Given the description of an element on the screen output the (x, y) to click on. 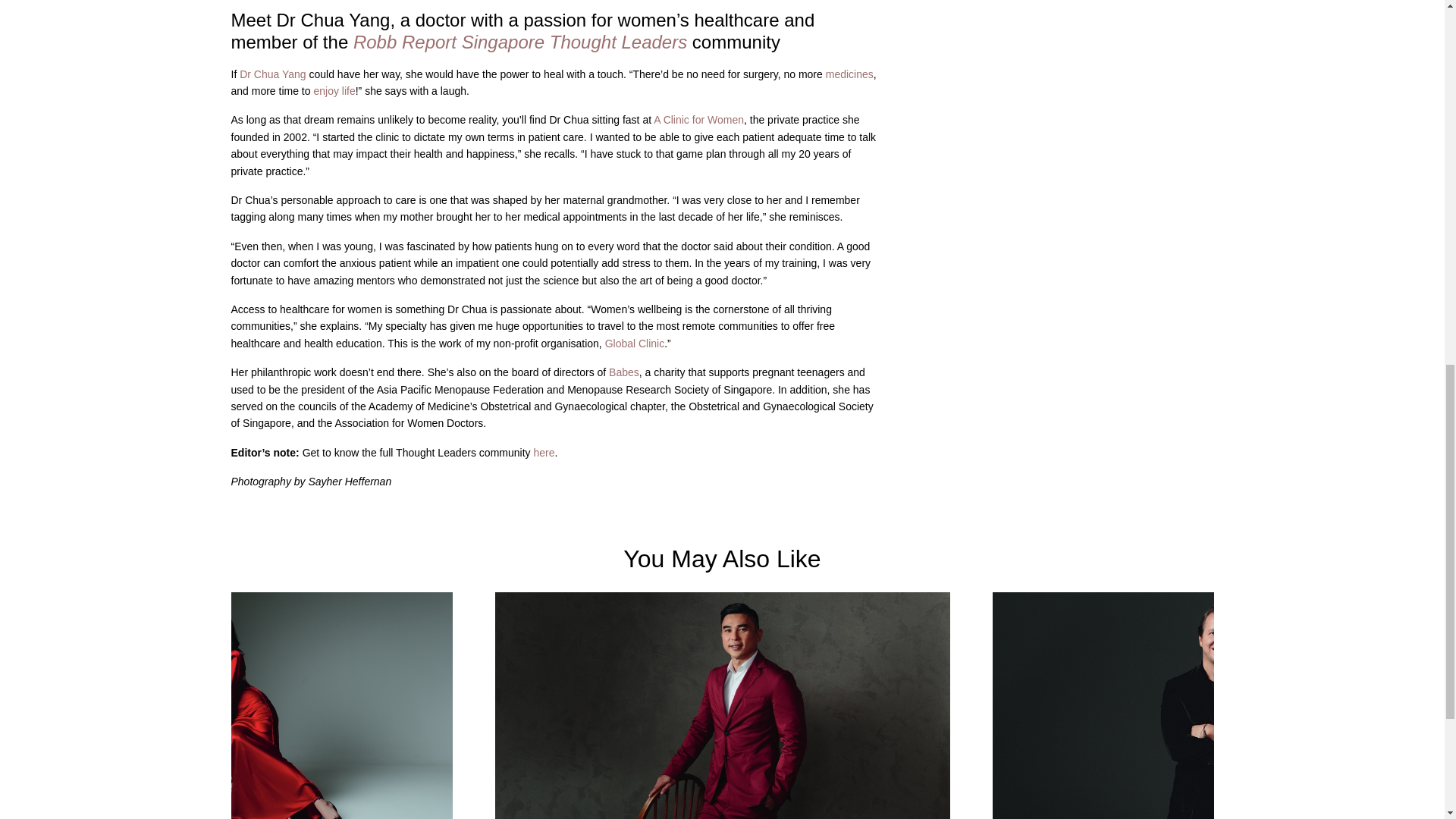
Dr Chua Yang (270, 73)
Babes (622, 372)
medicines (847, 73)
A Clinic for Women (697, 119)
Robb Report Singapore Thought Leaders (517, 41)
Global Clinic (632, 343)
enjoy life (333, 91)
